Given the description of an element on the screen output the (x, y) to click on. 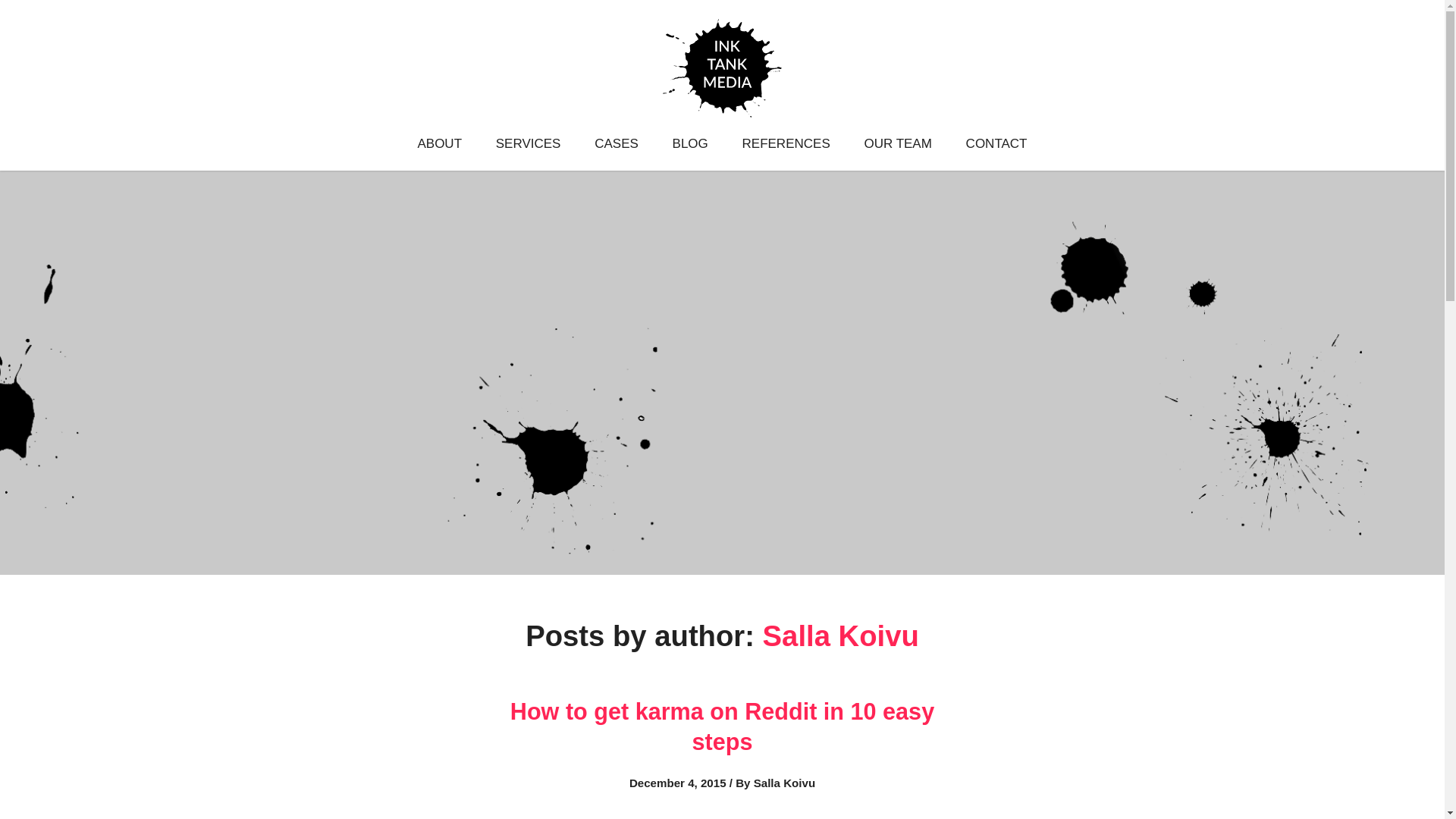
SERVICES (528, 145)
References (785, 145)
CONTACT (996, 145)
Blog (690, 145)
How to get karma on Reddit in 10 easy steps (722, 726)
About (438, 145)
Services (528, 145)
CASES (616, 145)
Ink Tank Media (721, 16)
Salla Koivu (840, 635)
OUR TEAM (897, 145)
ABOUT (438, 145)
Our team (897, 145)
Cases (616, 145)
Salla Koivu (840, 635)
